Given the description of an element on the screen output the (x, y) to click on. 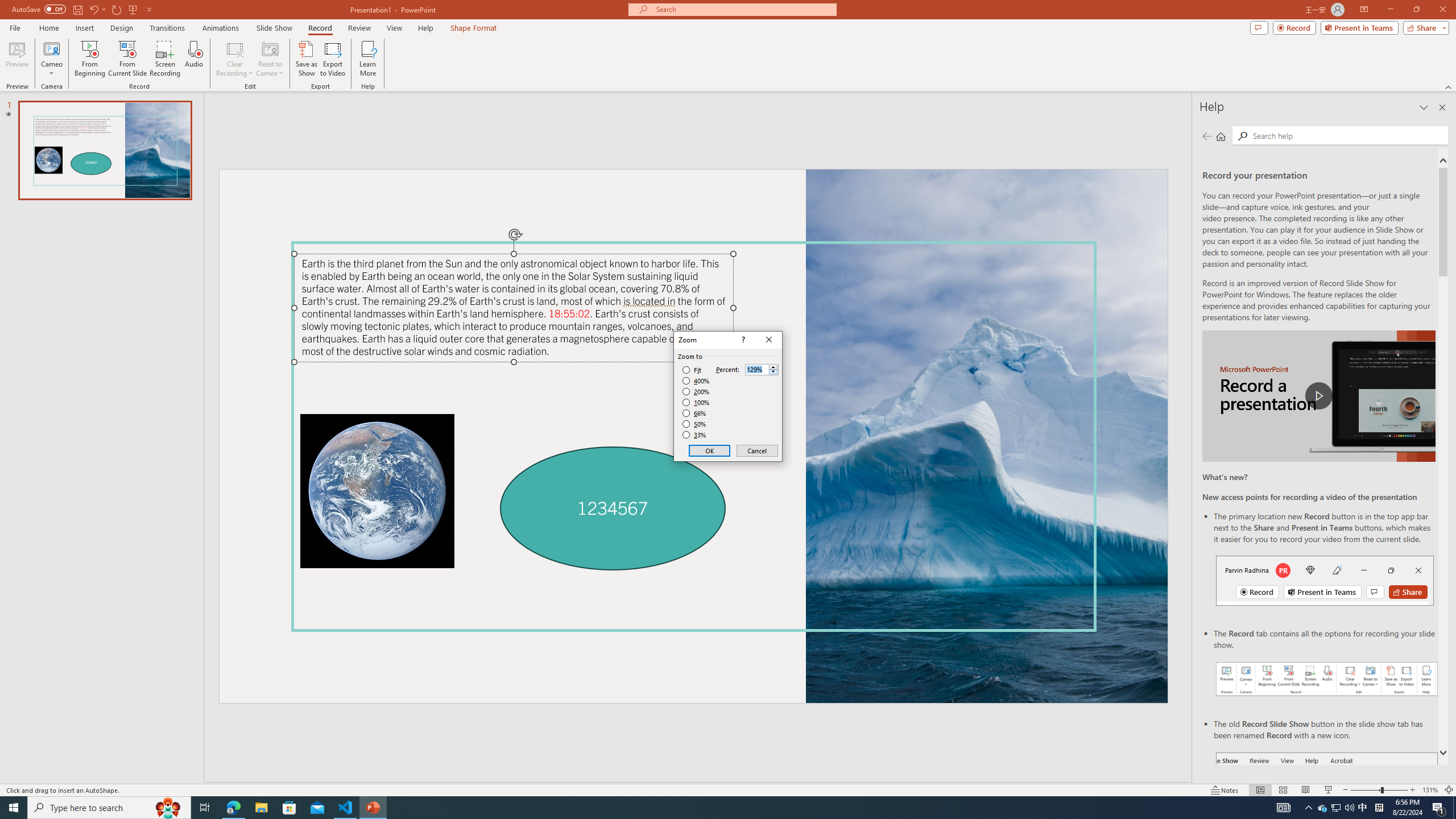
Zoom 131% (1362, 807)
66% (1430, 790)
